Given the description of an element on the screen output the (x, y) to click on. 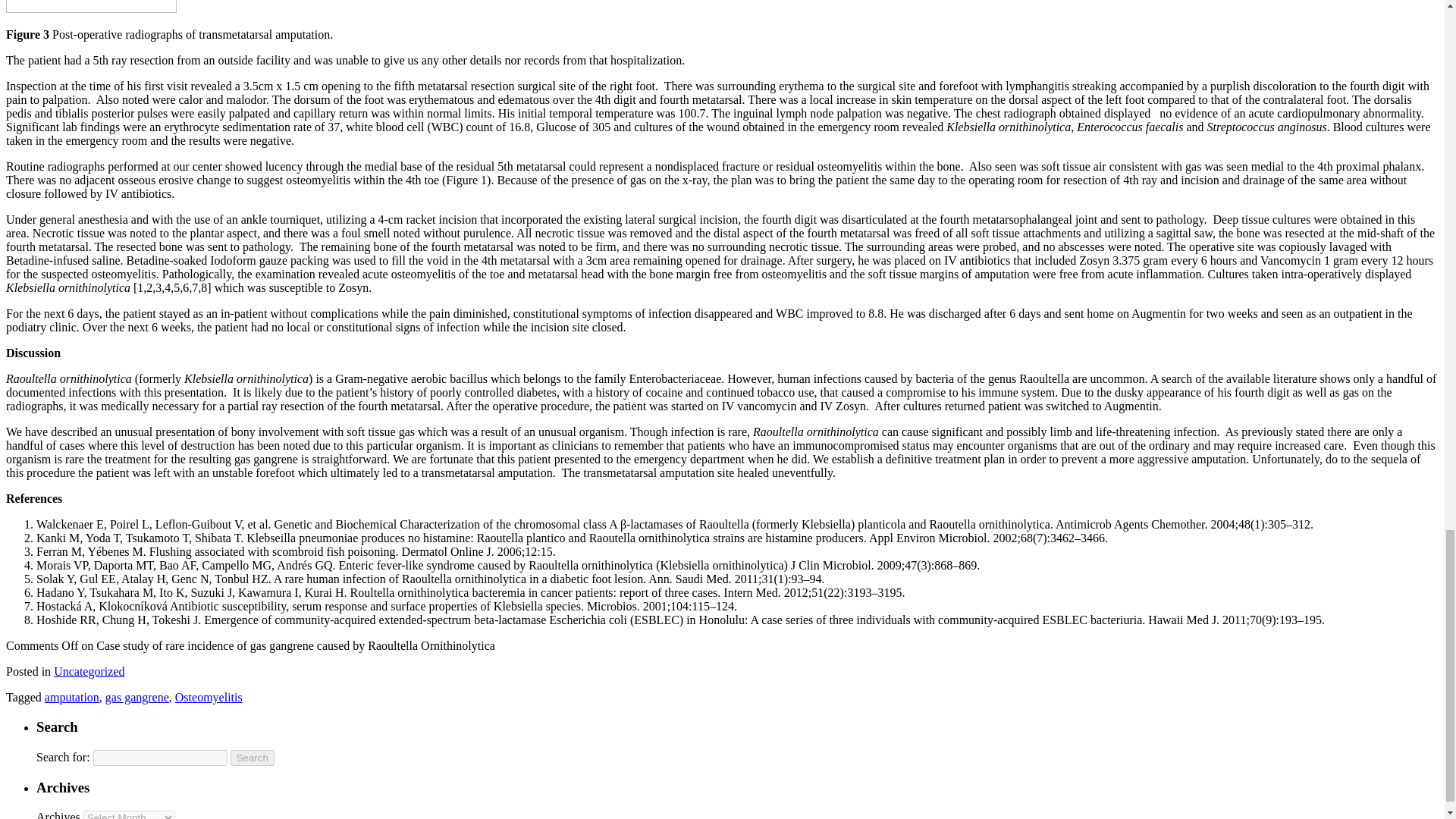
Search (252, 757)
gas gangrene (136, 697)
amputation (72, 697)
Osteomyelitis (208, 697)
Uncategorized (88, 671)
Search (252, 757)
